Given the description of an element on the screen output the (x, y) to click on. 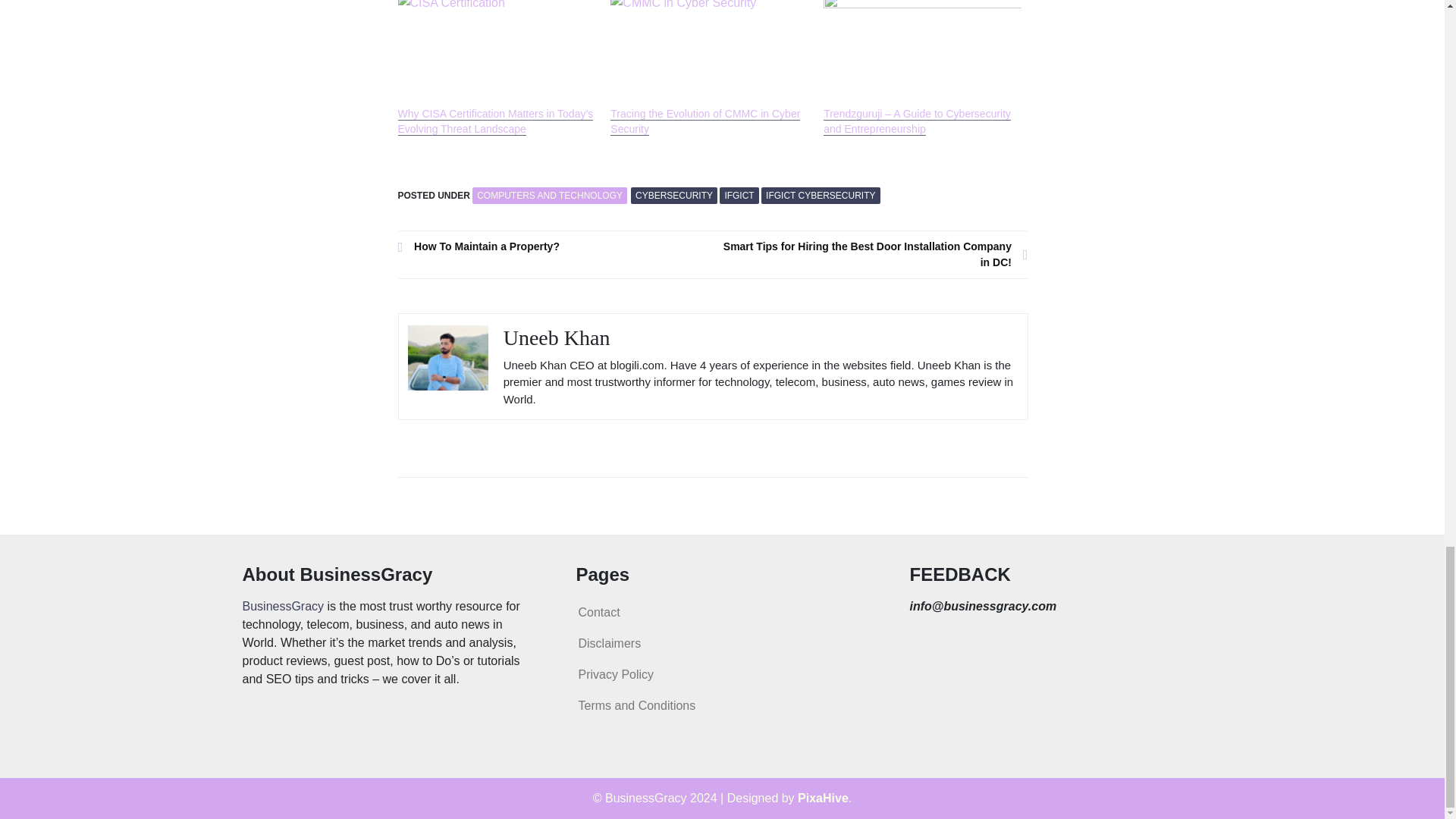
How To Maintain a Property? (555, 246)
Tracing the Evolution of CMMC in Cyber Security (709, 53)
IFGICT (738, 195)
COMPUTERS AND TECHNOLOGY (549, 195)
CYBERSECURITY (673, 195)
Tracing the Evolution of CMMC in Cyber Security (704, 121)
Tracing the Evolution of CMMC in Cyber Security (704, 121)
IFGICT CYBERSECURITY (820, 195)
